Given the description of an element on the screen output the (x, y) to click on. 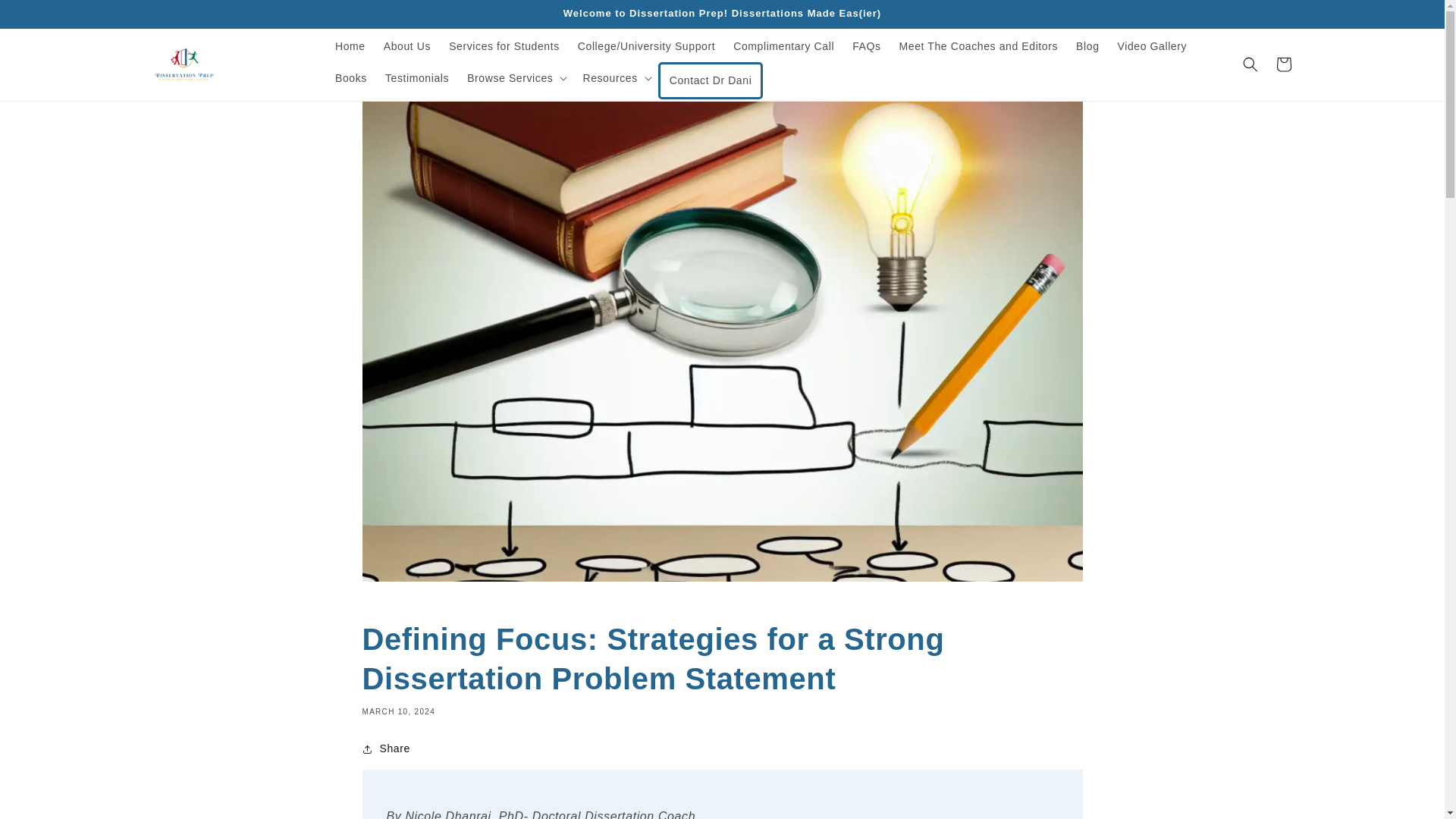
Meet The Coaches and Editors (978, 46)
Skip to content (45, 17)
Home (350, 46)
About Us (406, 46)
Video Gallery (1152, 46)
FAQs (866, 46)
Services for Students (504, 46)
Complimentary Call (783, 46)
Blog (1087, 46)
